Given the description of an element on the screen output the (x, y) to click on. 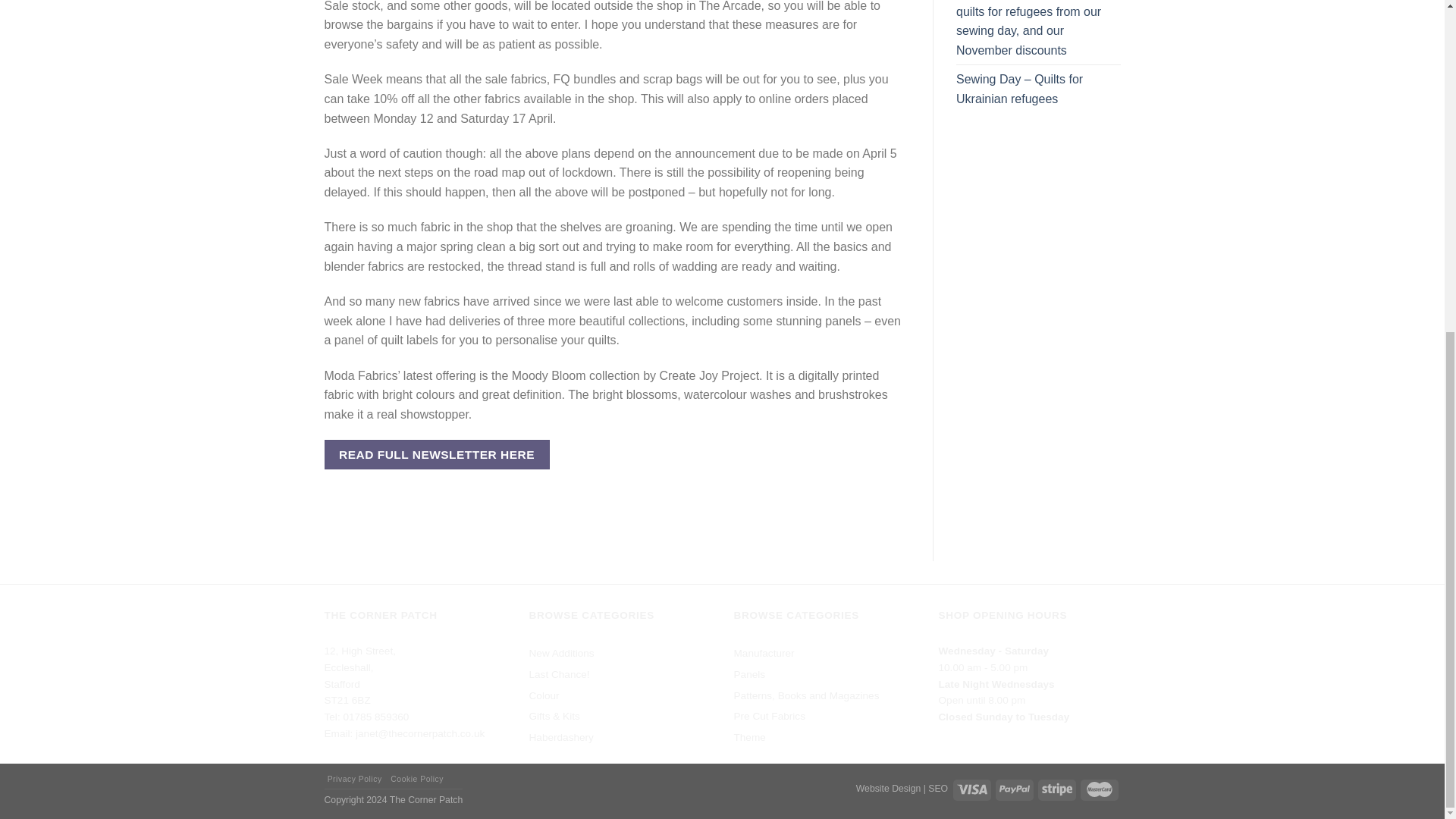
READ FULL NEWSLETTER HERE (437, 454)
